Given the description of an element on the screen output the (x, y) to click on. 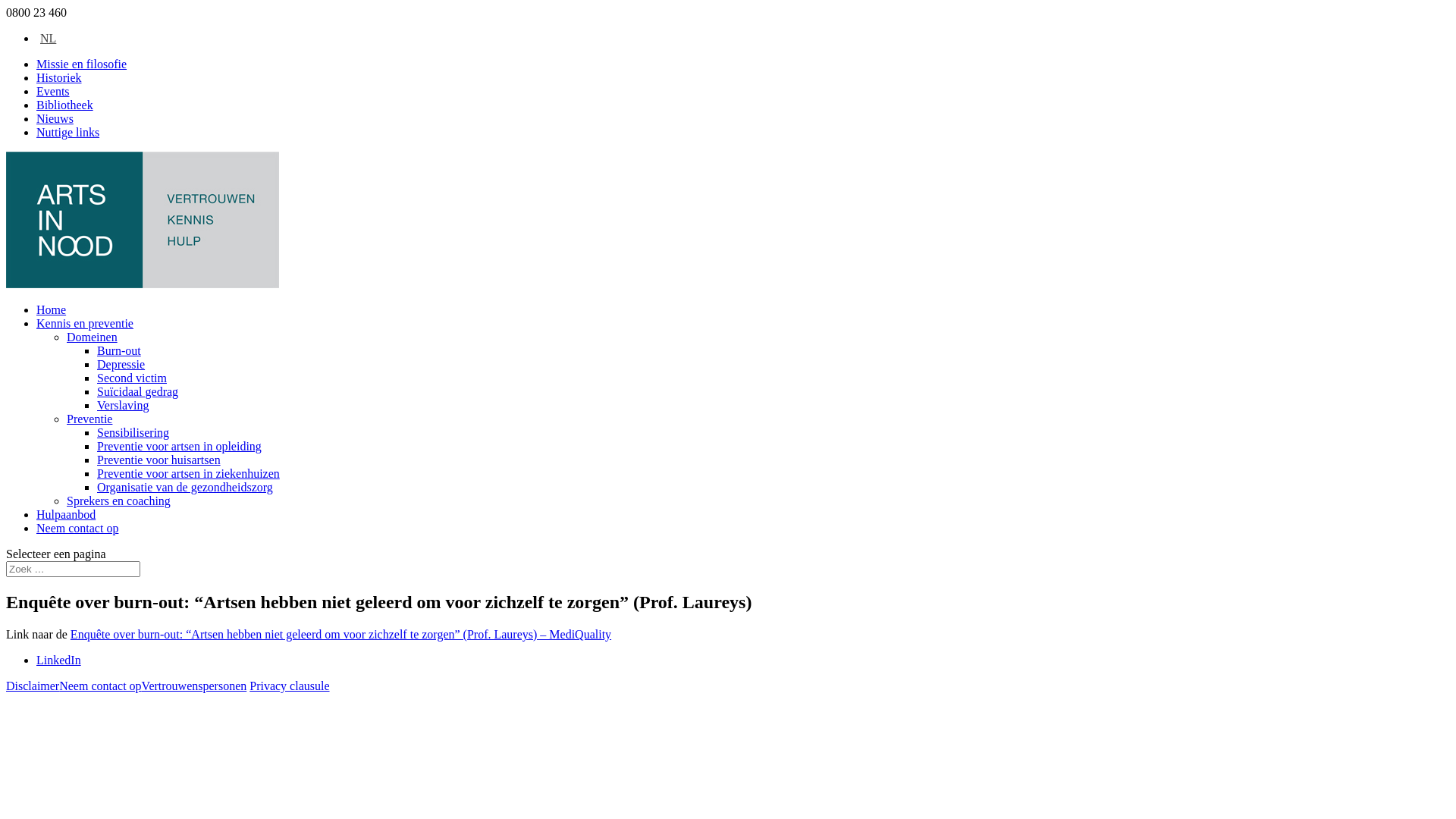
Bibliotheek Element type: text (64, 104)
Nuttige links Element type: text (67, 131)
Neem contact op Element type: text (77, 527)
Organisatie van de gezondheidszorg Element type: text (185, 486)
Zoek naar: Element type: hover (73, 569)
Sprekers en coaching Element type: text (118, 500)
Sensibilisering Element type: text (133, 432)
Depressie Element type: text (120, 363)
Hulpaanbod Element type: text (65, 514)
Preventie voor artsen in ziekenhuizen Element type: text (188, 473)
Domeinen Element type: text (91, 336)
Second victim Element type: text (131, 377)
Preventie Element type: text (89, 418)
Verslaving Element type: text (122, 404)
Kennis en preventie Element type: text (84, 322)
Missie en filosofie Element type: text (81, 63)
Burn-out Element type: text (119, 350)
Vertrouwenspersonen Element type: text (194, 685)
Privacy clausule Element type: text (289, 685)
Neem contact op Element type: text (100, 685)
Disclaimer Element type: text (32, 685)
Home Element type: text (50, 309)
Preventie voor huisartsen Element type: text (158, 459)
Events Element type: text (52, 90)
Nieuws Element type: text (54, 118)
LinkedIn Element type: text (58, 659)
NL Element type: text (46, 37)
Preventie voor artsen in opleiding Element type: text (179, 445)
Historiek Element type: text (58, 77)
